Given the description of an element on the screen output the (x, y) to click on. 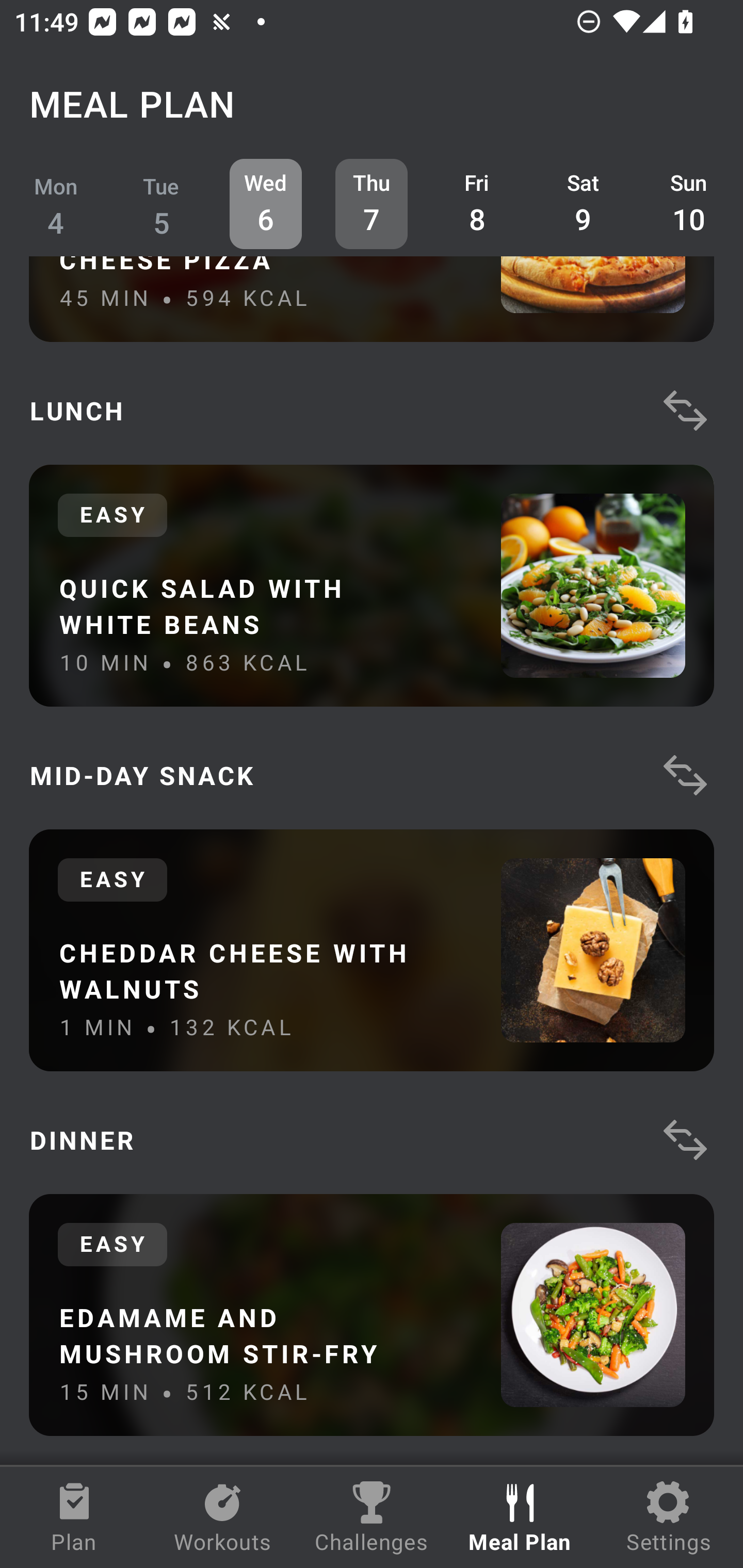
Wed 6 (265, 203)
Thu 7 (371, 203)
Fri 8 (477, 203)
Sat 9 (583, 203)
Sun 10 (689, 203)
EASY CHEDDAR CHEESE WITH WALNUTS 1 MIN • 132 KCAL (371, 949)
 Plan  (74, 1517)
 Workouts  (222, 1517)
 Challenges  (371, 1517)
 Settings  (668, 1517)
